Given the description of an element on the screen output the (x, y) to click on. 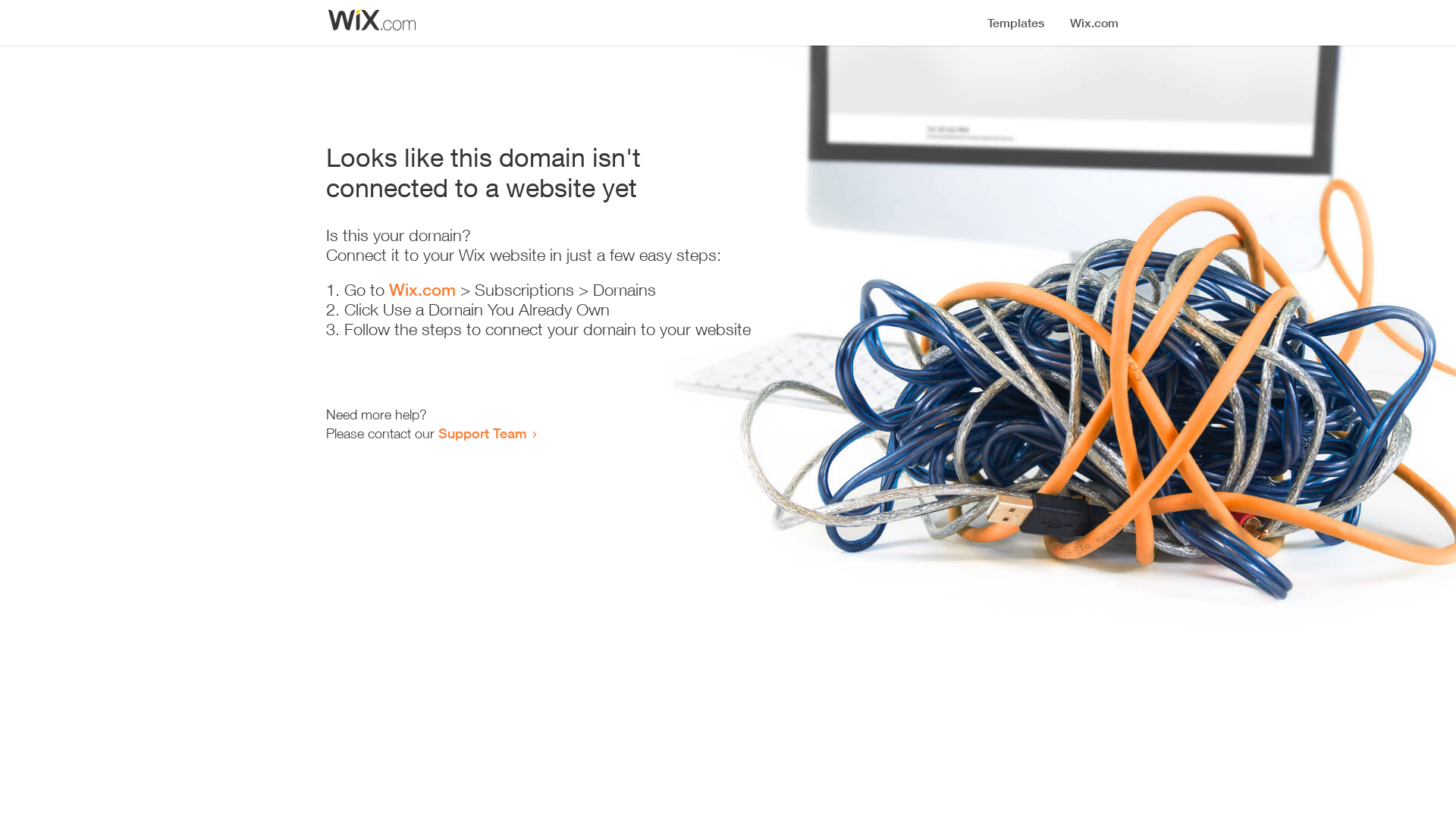
Support Team Element type: text (482, 432)
Wix.com Element type: text (422, 289)
